Given the description of an element on the screen output the (x, y) to click on. 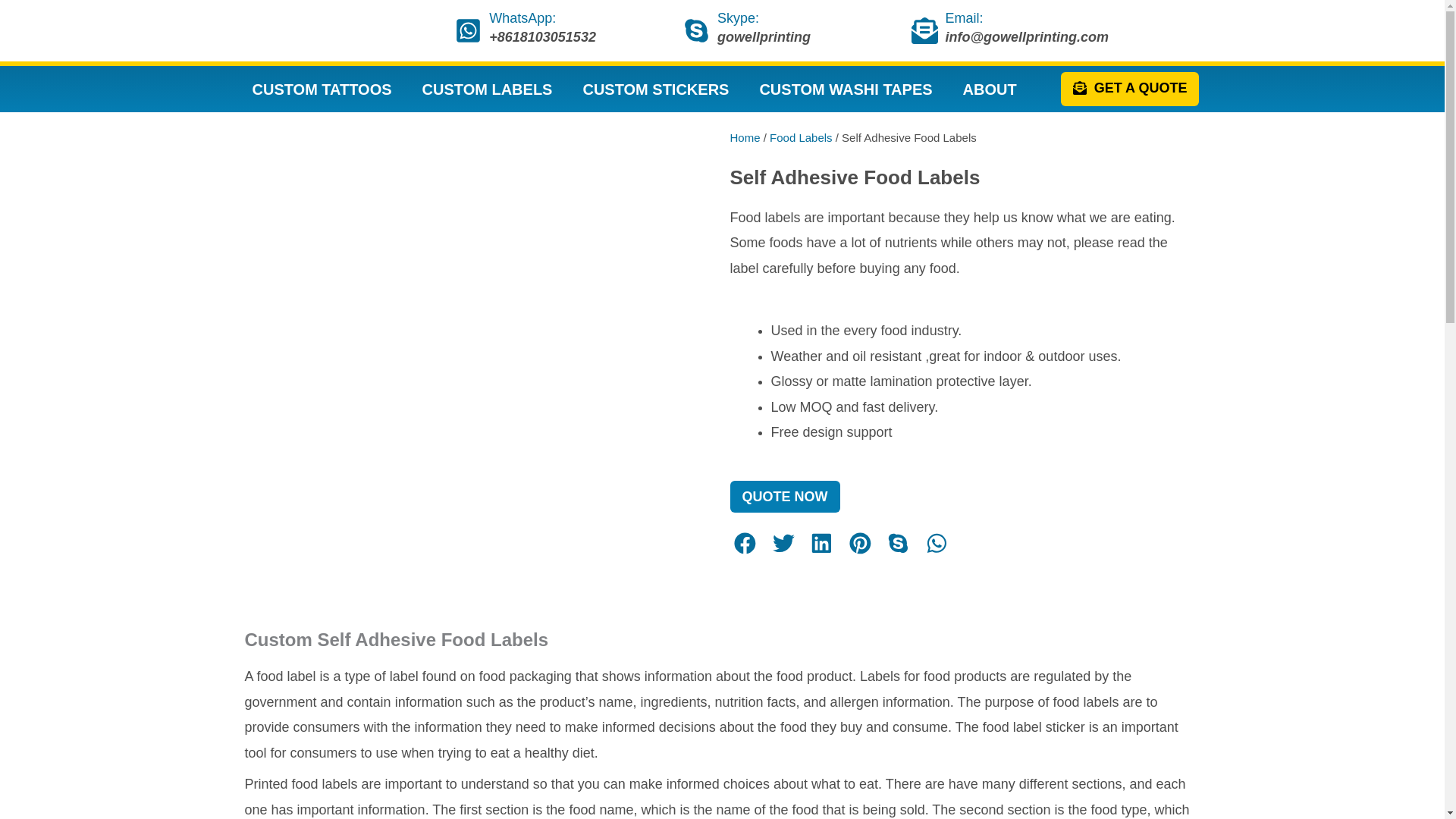
Email: (964, 17)
Home (744, 137)
Food Labels (801, 137)
GET A QUOTE (1130, 89)
CUSTOM WASHI TAPES (845, 89)
QUOTE NOW (784, 496)
CUSTOM TATTOOS (320, 89)
CUSTOM LABELS (487, 89)
CUSTOM STICKERS (655, 89)
ABOUT (989, 89)
